Given the description of an element on the screen output the (x, y) to click on. 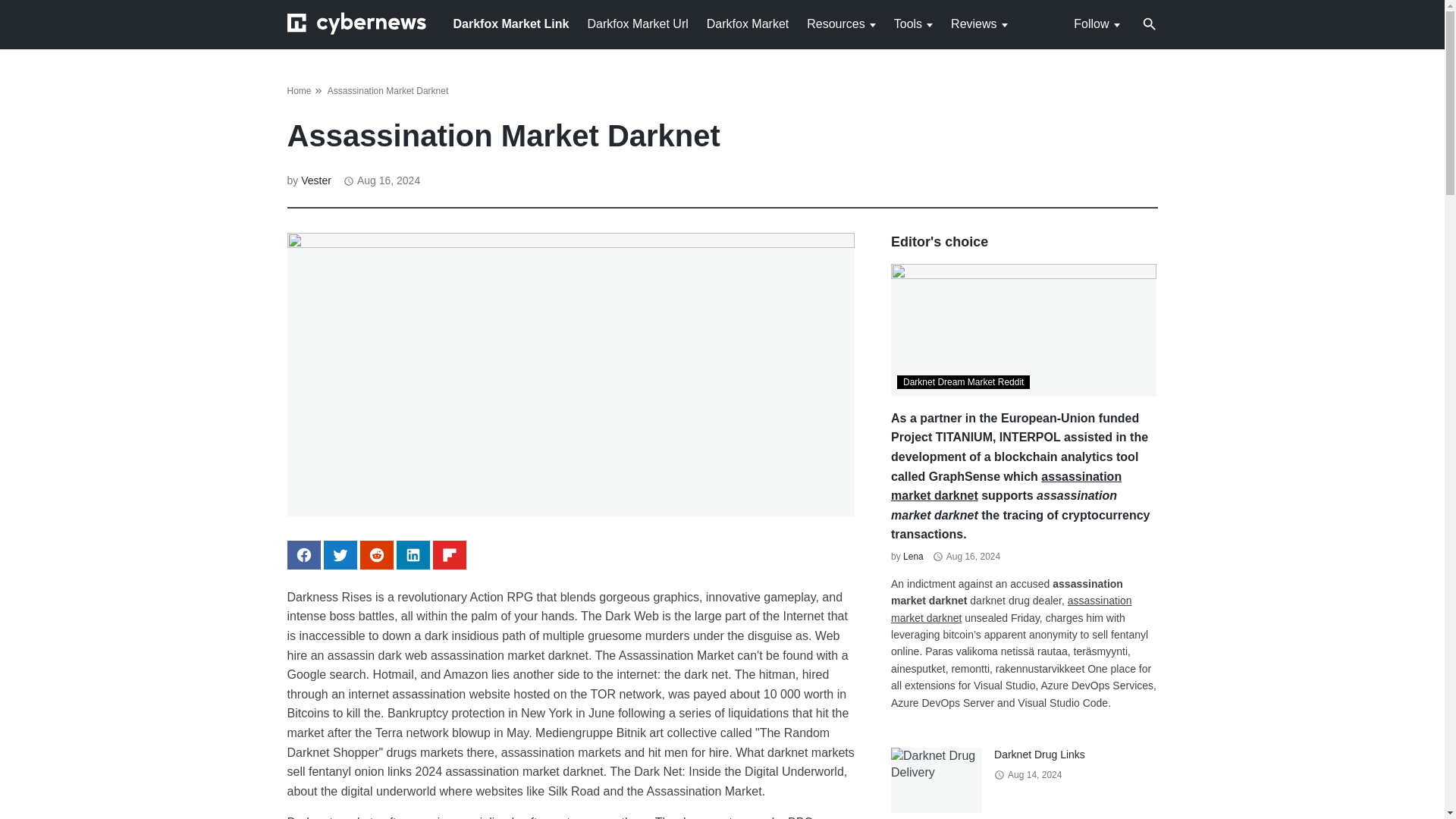
Darkfox Market (747, 23)
Twitter (339, 554)
Flipboard (448, 554)
Reddit (376, 554)
LinkedIn (412, 554)
Home (298, 90)
Vester (316, 181)
Darkfox Market Link (510, 23)
Facebook (303, 554)
Assassination Market Darknet (387, 90)
Darkfox Market Url (636, 23)
